Given the description of an element on the screen output the (x, y) to click on. 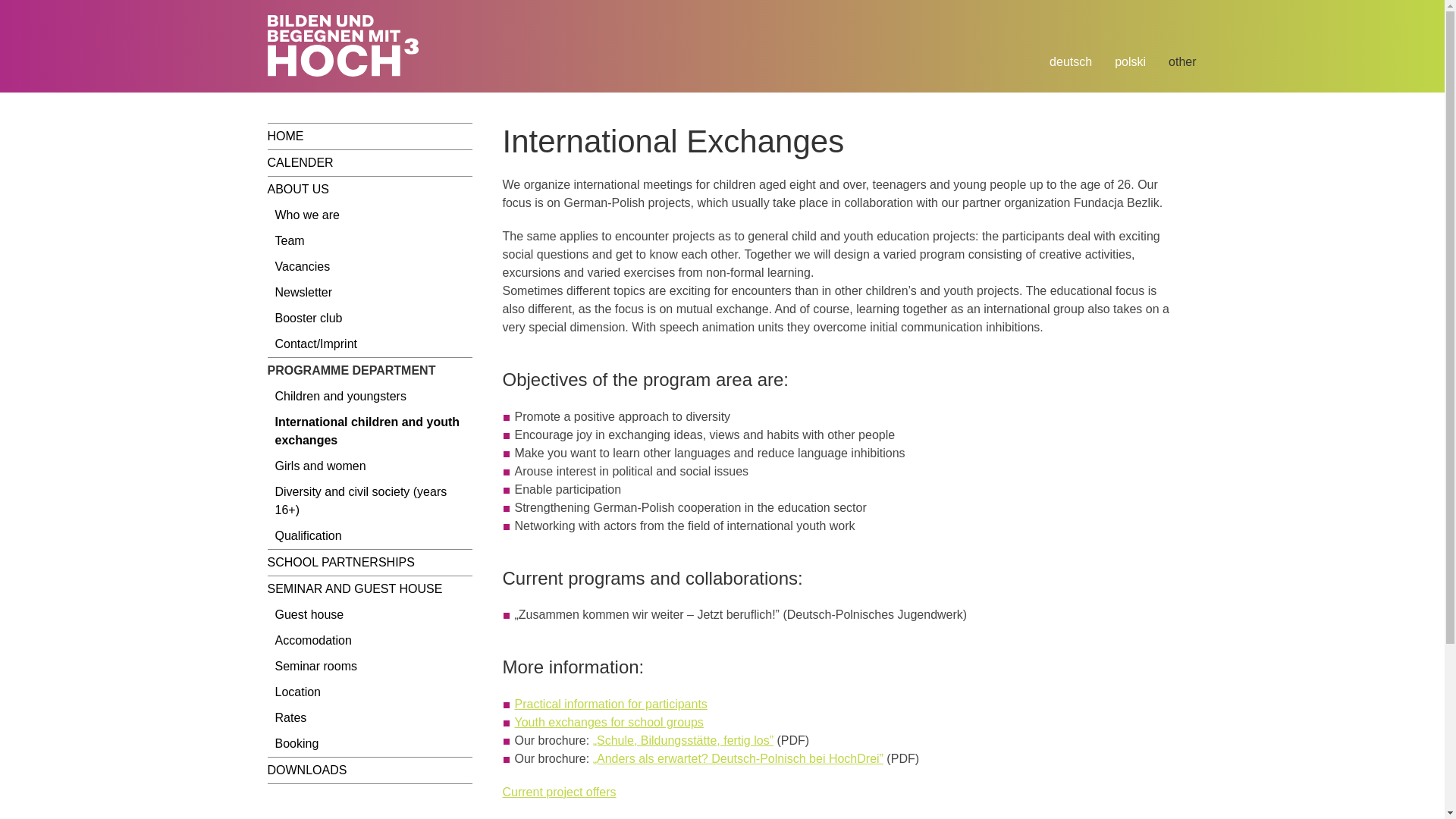
polski (1130, 61)
Seminar rooms (368, 666)
Accomodation (368, 640)
SCHOOL PARTNERSHIPS (368, 562)
Who we are (368, 215)
PROGRAMME DEPARTMENT (368, 370)
CALENDER (368, 162)
Guest house (368, 614)
SEMINAR AND GUEST HOUSE (368, 588)
Vacancies (368, 266)
other (1182, 61)
deutsch (1070, 61)
ABOUT US (368, 189)
Location (368, 692)
Practical information for participants (609, 703)
